Given the description of an element on the screen output the (x, y) to click on. 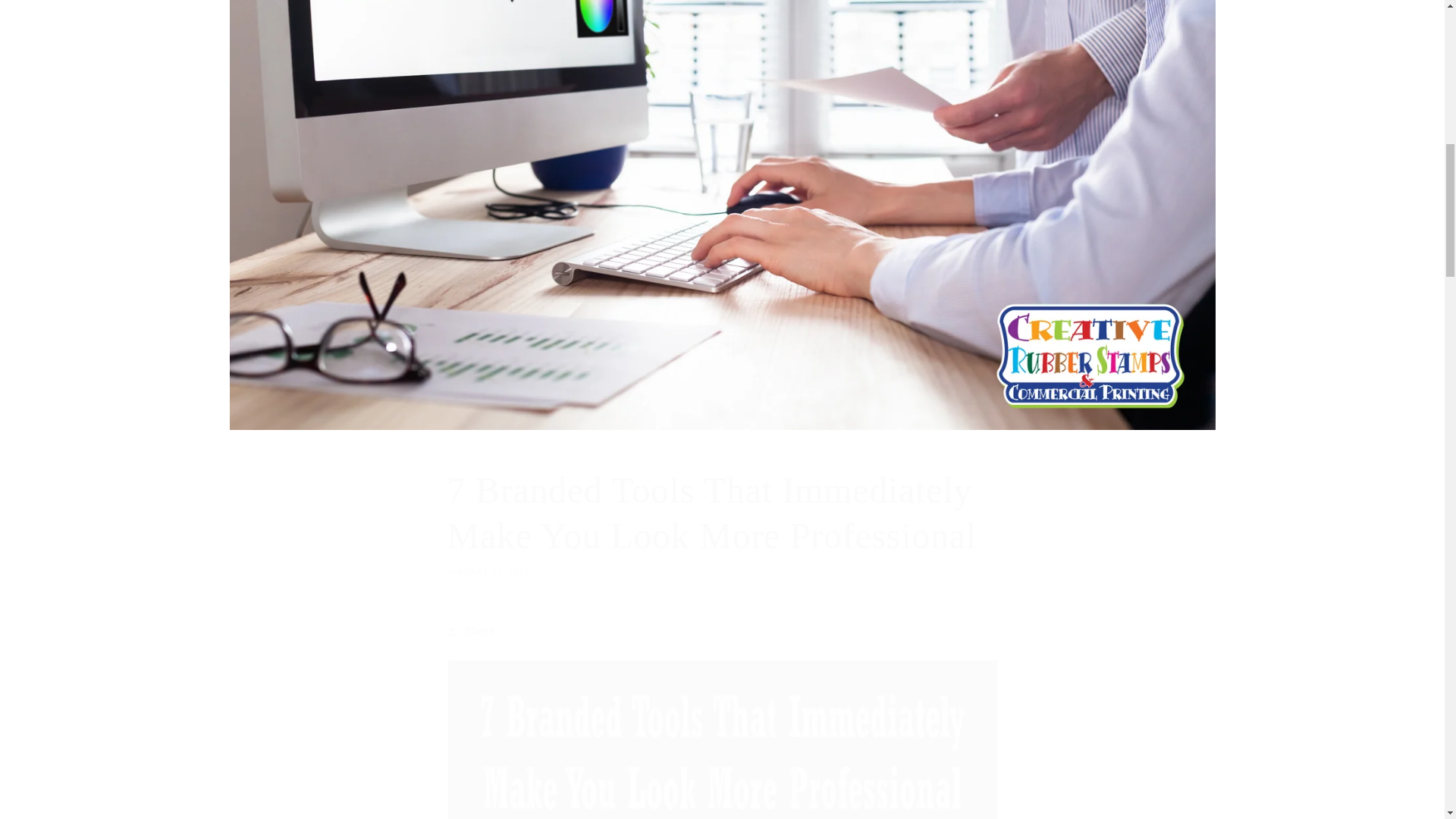
Share (721, 631)
